Given the description of an element on the screen output the (x, y) to click on. 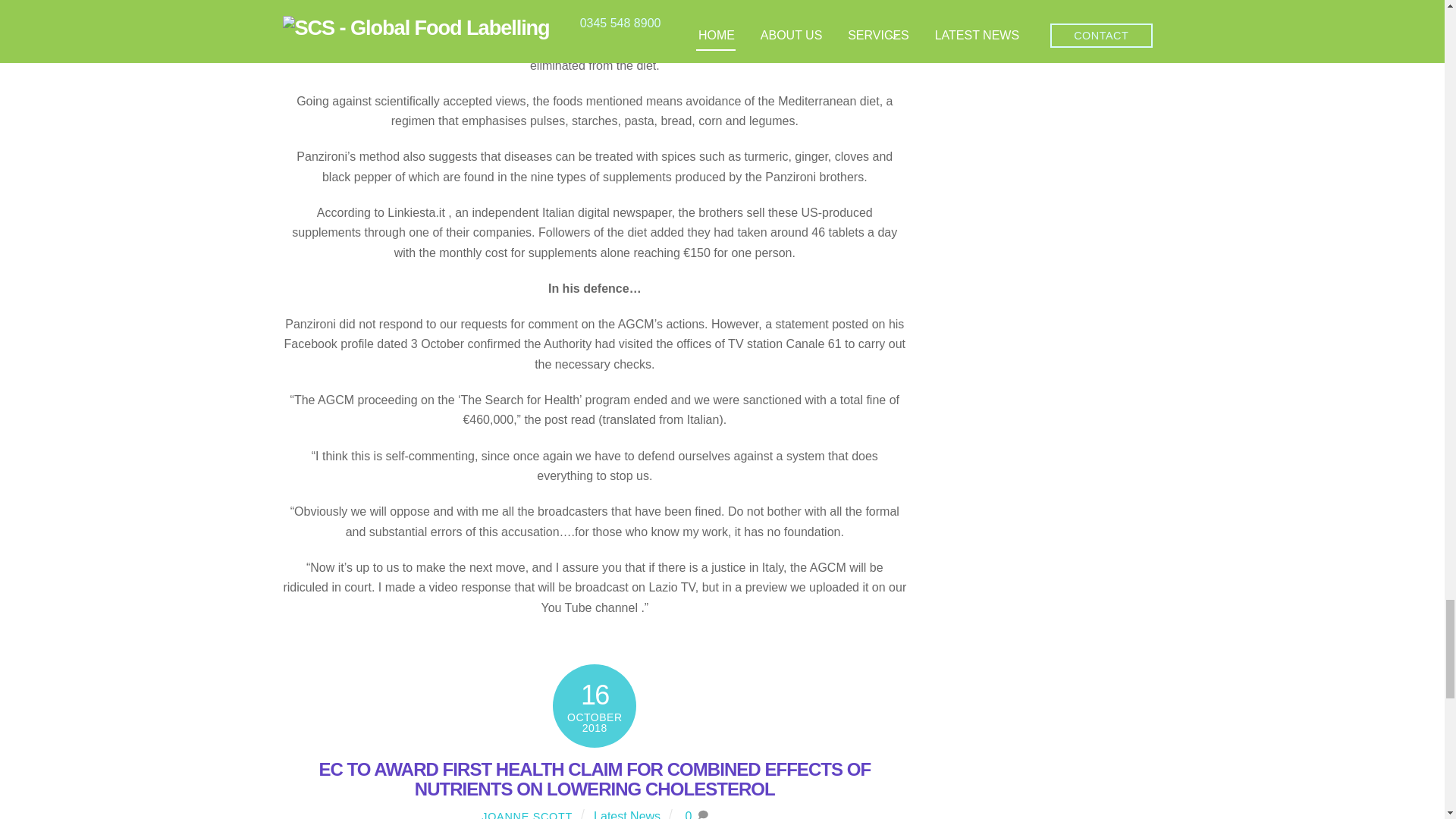
JOANNE SCOTT (526, 814)
Latest News (627, 814)
